Given the description of an element on the screen output the (x, y) to click on. 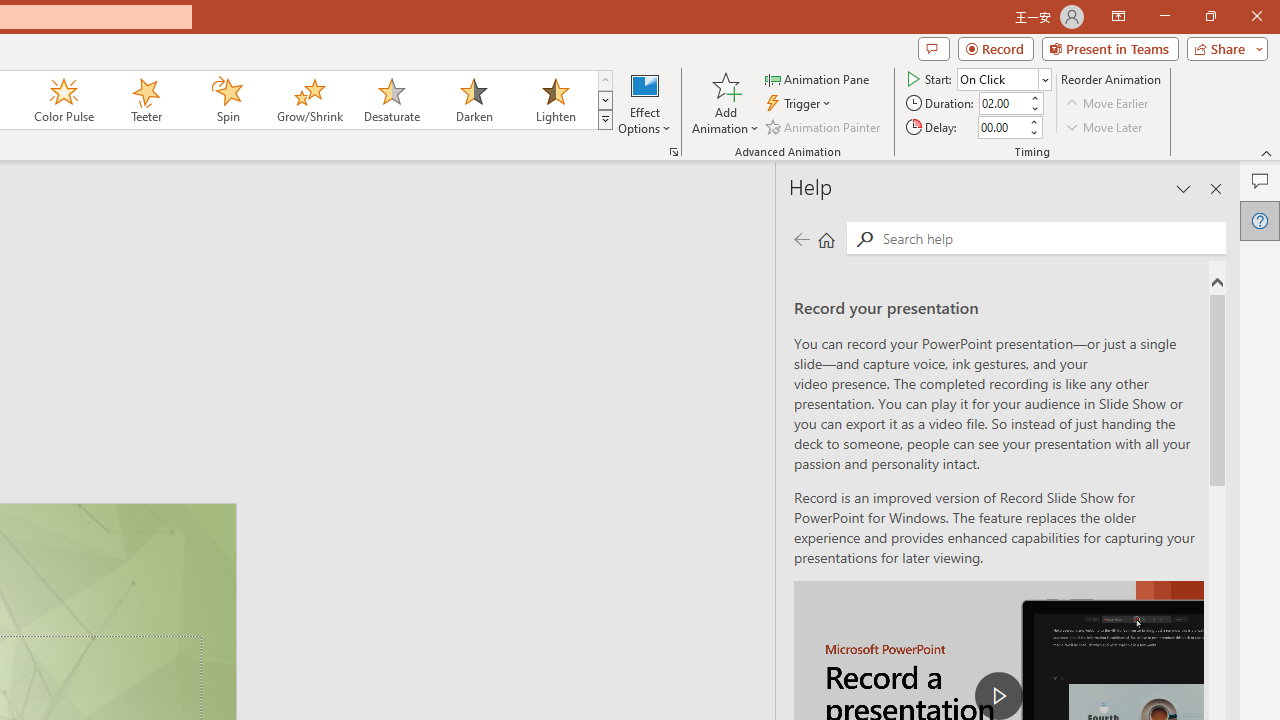
Spin (227, 100)
Desaturate (391, 100)
Color Pulse (63, 100)
Darken (473, 100)
Teeter (145, 100)
Animation Pane (818, 78)
